Given the description of an element on the screen output the (x, y) to click on. 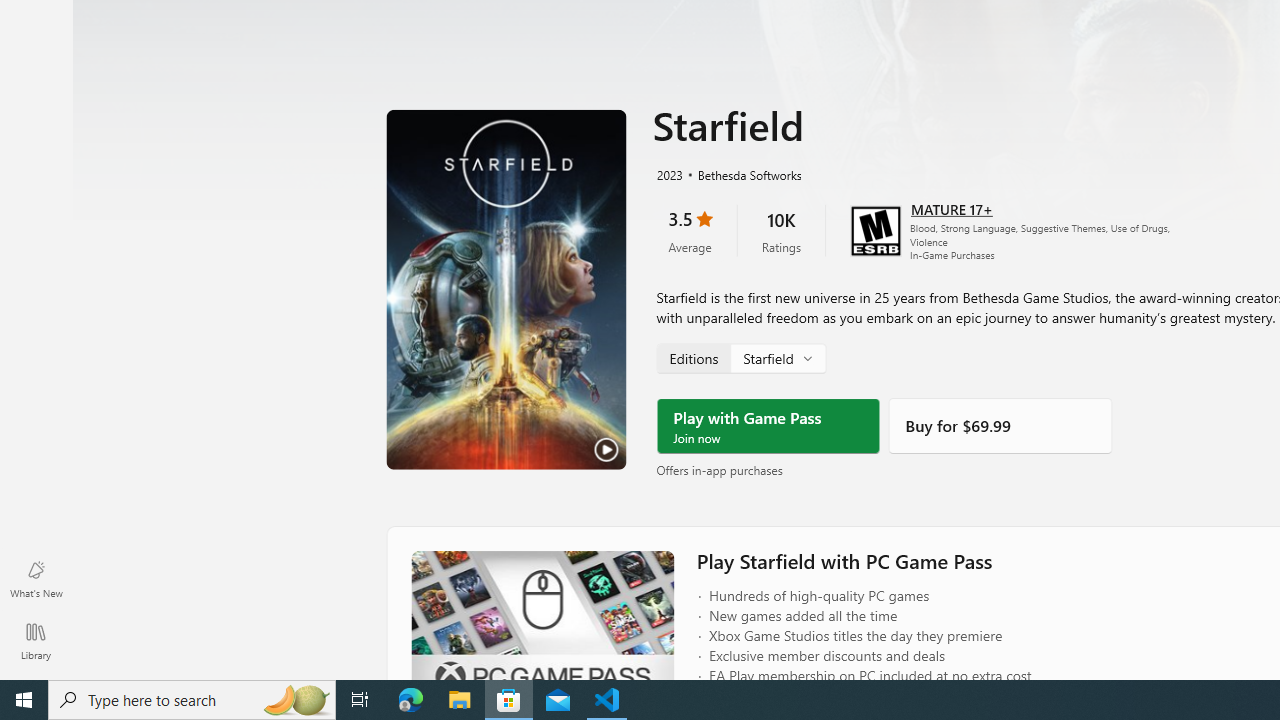
Bethesda Softworks (741, 173)
2023 (667, 173)
Buy (1000, 426)
Library (35, 640)
Age rating: MATURE 17+. Click for more information. (951, 208)
Play Trailer (505, 288)
Play with Game Pass (767, 426)
Starfield, Edition selector (740, 357)
3.5 stars. Click to skip to ratings and reviews (689, 229)
What's New (35, 578)
